Given the description of an element on the screen output the (x, y) to click on. 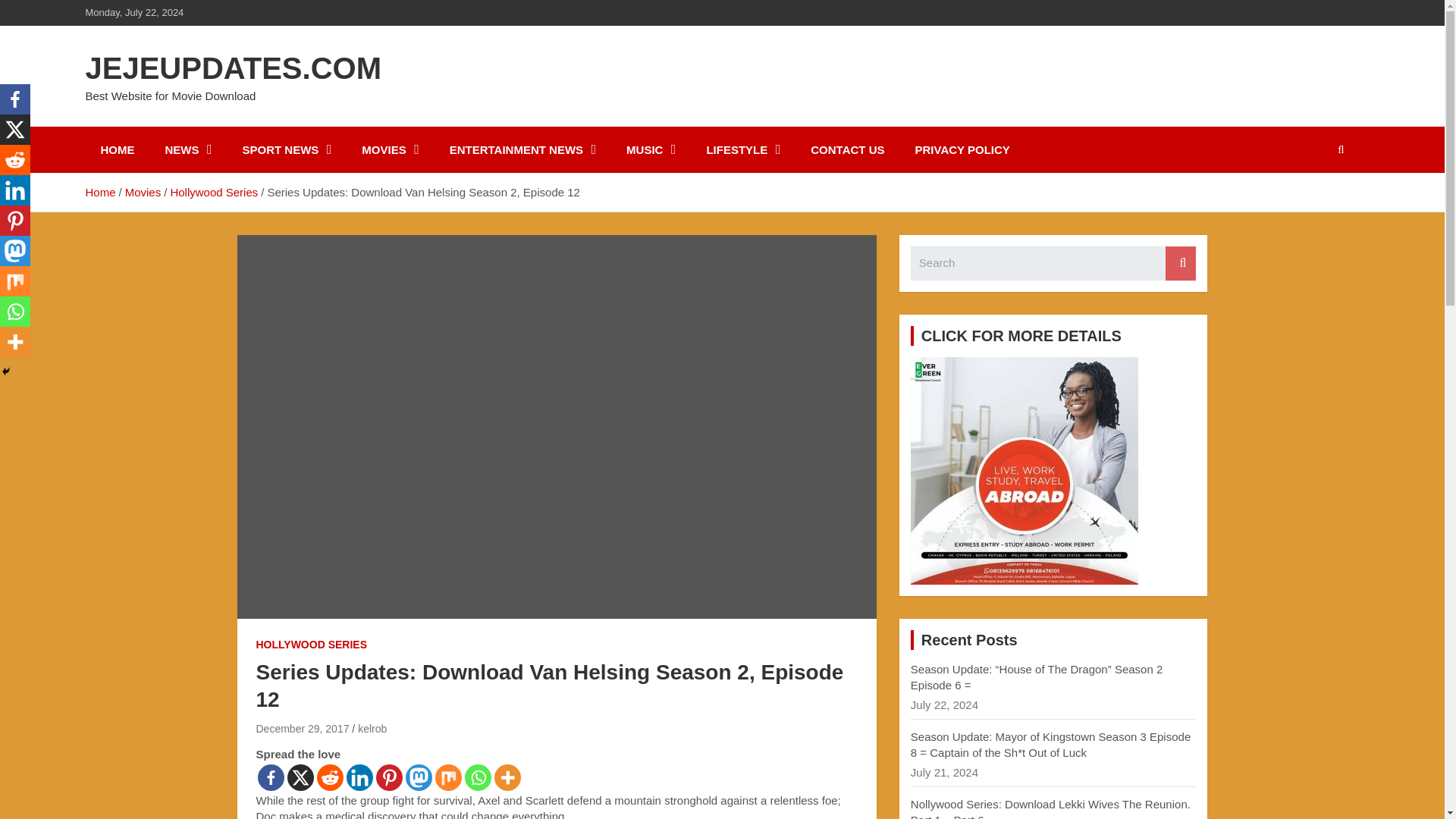
CONTACT US (846, 149)
Movies (143, 192)
PRIVACY POLICY (962, 149)
HOME (116, 149)
Facebook (270, 777)
MUSIC (650, 149)
Facebook (15, 99)
Pinterest (389, 777)
X (299, 777)
Linkedin (359, 777)
Linkedin (15, 190)
MOVIES (389, 149)
JEJEUPDATES.COM (232, 68)
LIFESTYLE (742, 149)
